Given the description of an element on the screen output the (x, y) to click on. 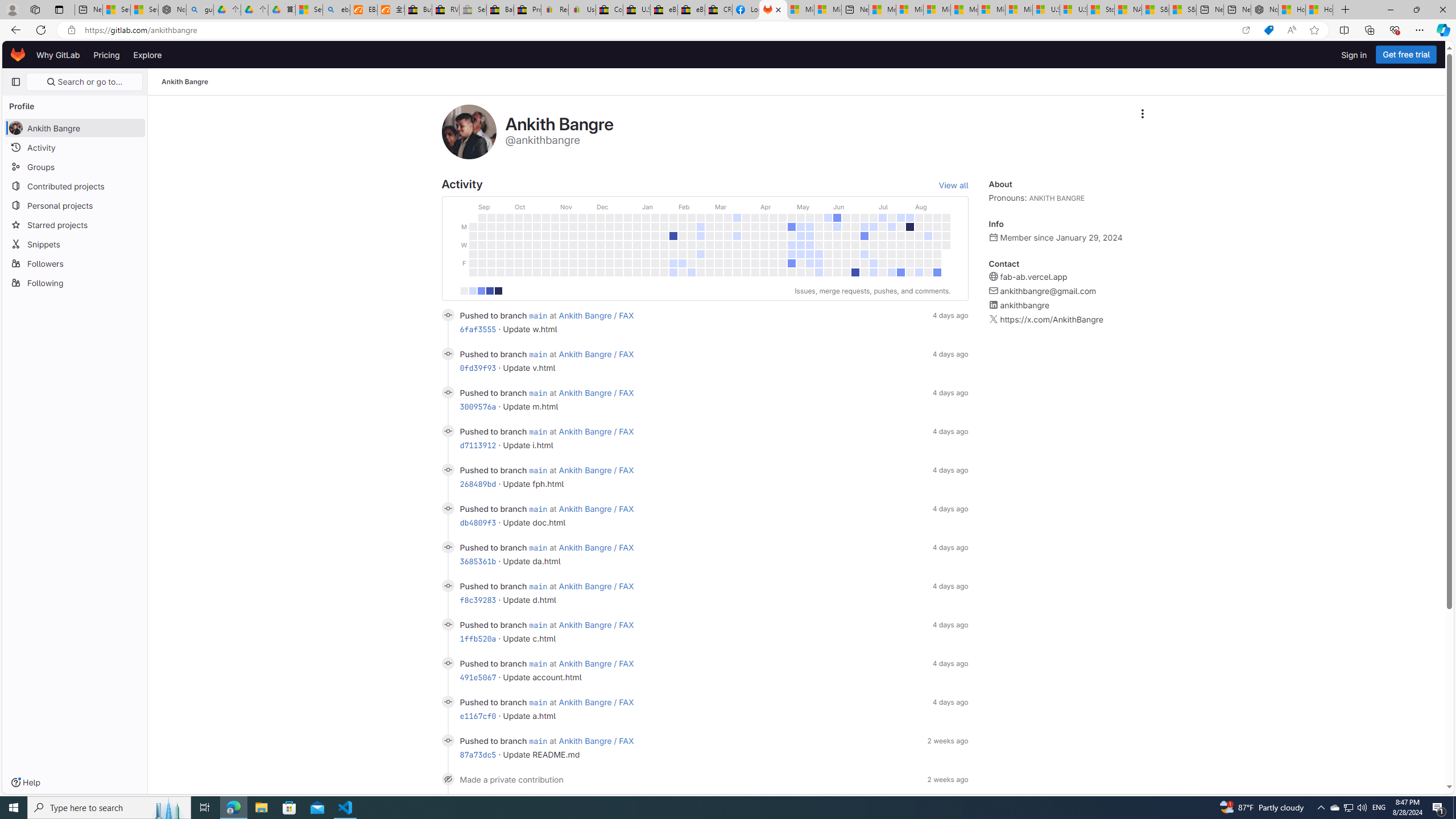
Personal projects (74, 205)
6faf3555 (478, 329)
